Given the description of an element on the screen output the (x, y) to click on. 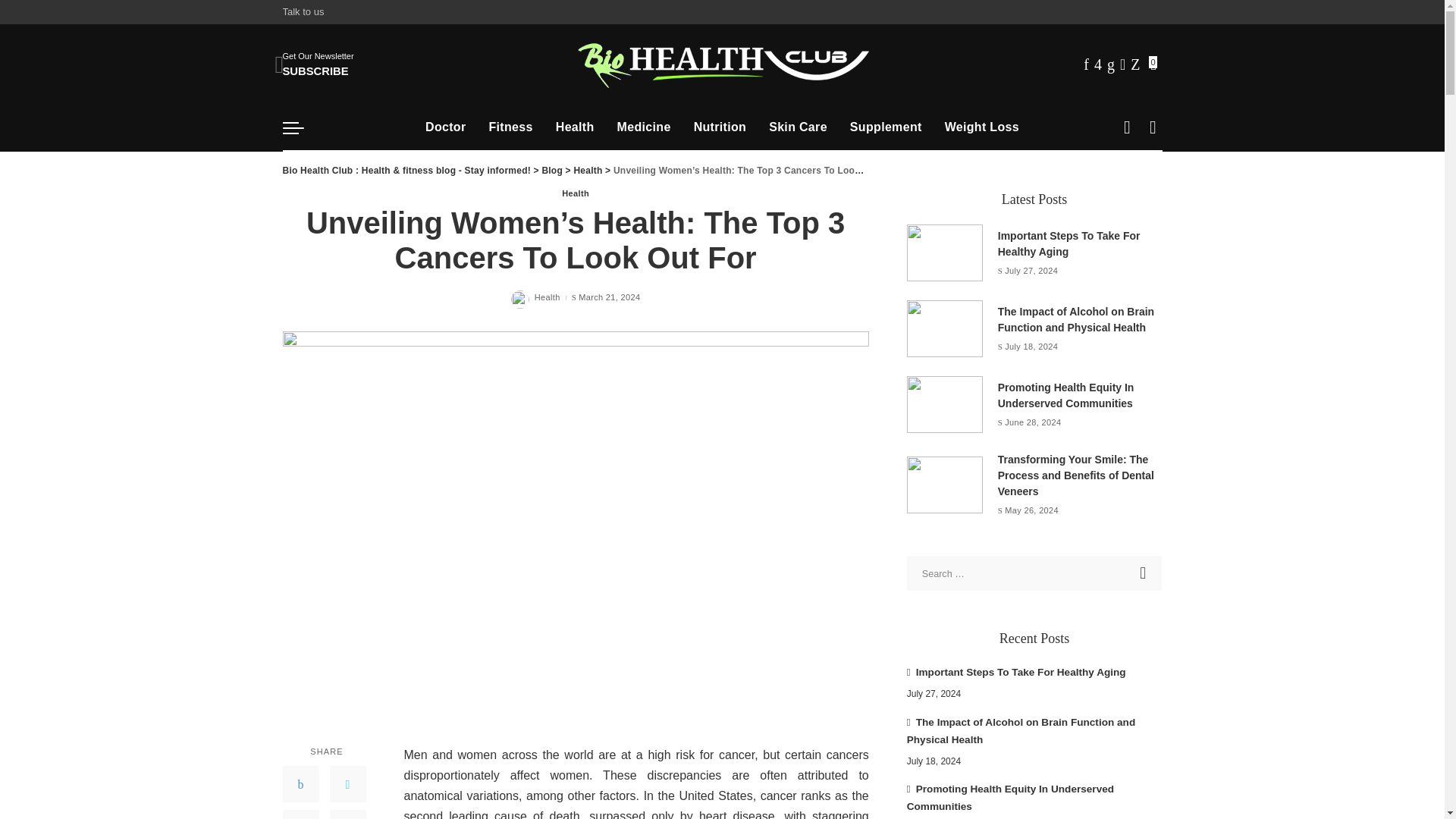
Doctor (445, 126)
Skin Care (797, 126)
Search (317, 64)
Fitness (1143, 573)
Nutrition (510, 126)
Talk to us (720, 126)
Search (305, 11)
Health (1143, 573)
Medicine (574, 126)
